Given the description of an element on the screen output the (x, y) to click on. 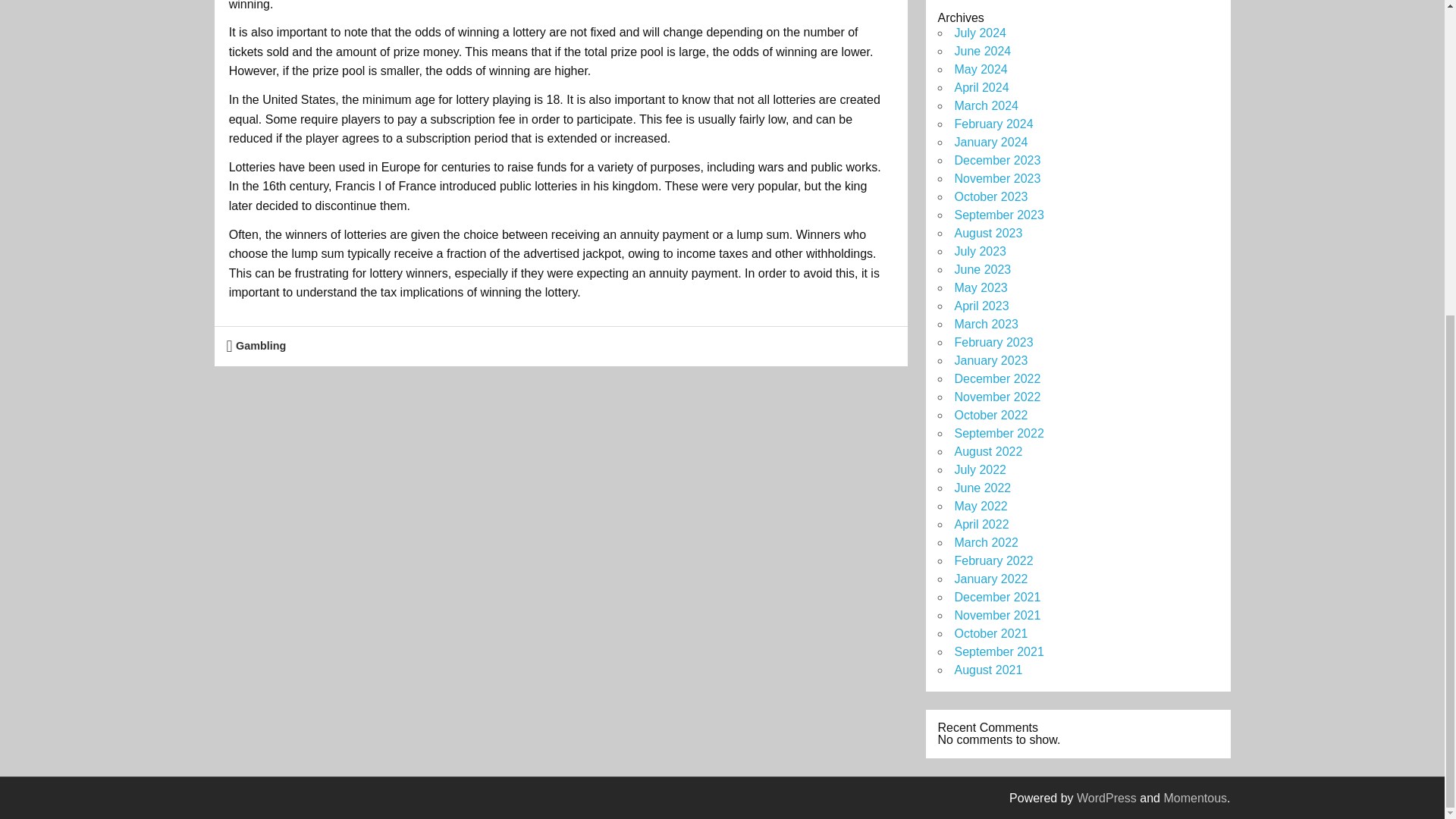
December 2023 (997, 160)
Momentous WordPress Theme (1195, 797)
October 2023 (990, 196)
June 2024 (981, 51)
March 2023 (985, 323)
May 2023 (980, 287)
May 2024 (980, 69)
April 2024 (981, 87)
June 2023 (981, 269)
July 2022 (979, 469)
September 2022 (998, 432)
February 2023 (992, 341)
WordPress (1107, 797)
September 2023 (998, 214)
August 2023 (987, 232)
